Given the description of an element on the screen output the (x, y) to click on. 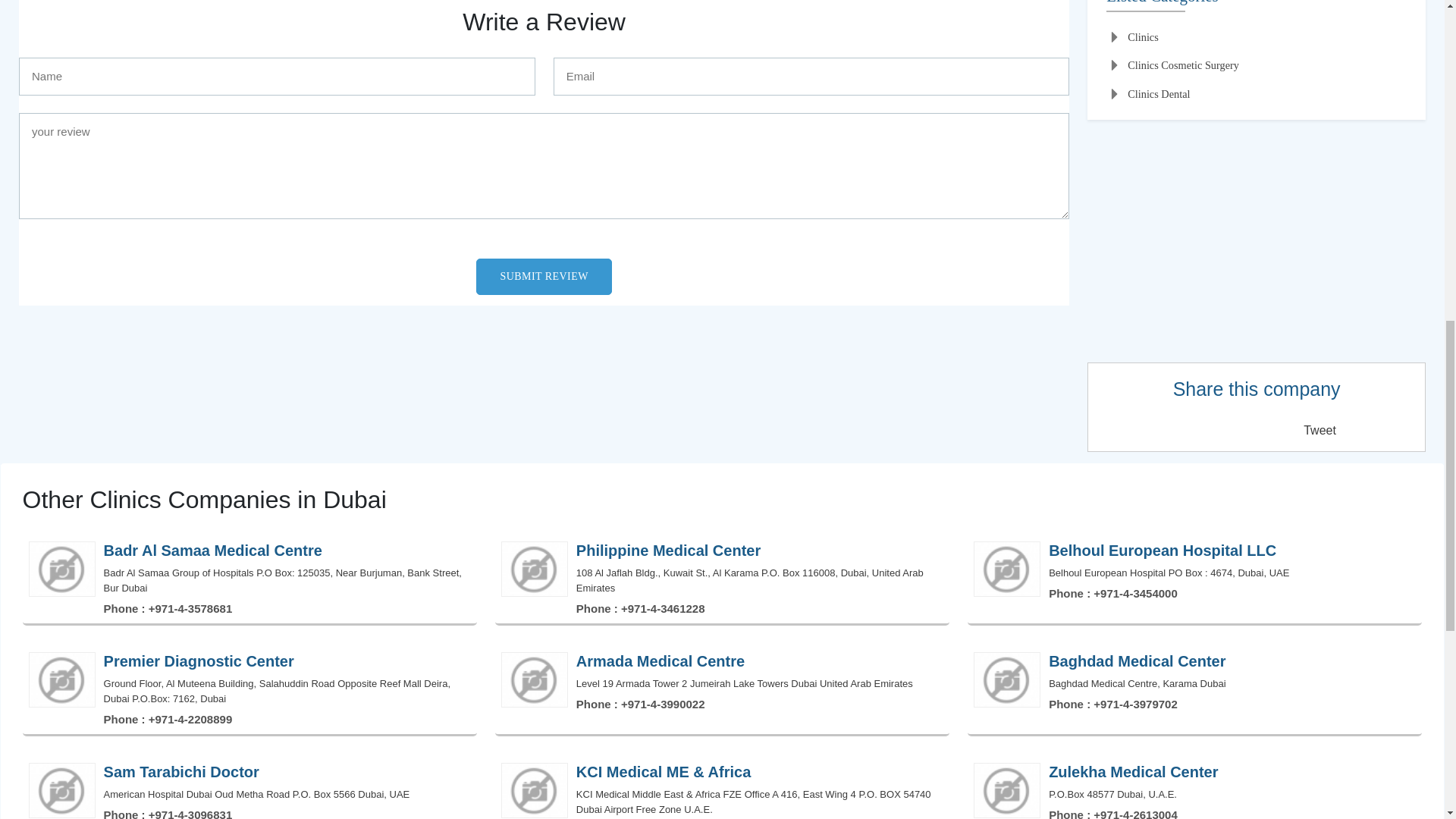
Submit Review (543, 276)
list of companies in Clinics Cosmetic Surgery (1172, 65)
Write a review to Karama Medical Centre (543, 21)
Clinics Cosmetic Surgery (1172, 65)
Clinics (1132, 37)
Tweet (1319, 430)
Karama Medical Centre listed in category  (1256, 6)
list of companies in Clinics (1132, 37)
Clinics Dental (1147, 94)
